Given the description of an element on the screen output the (x, y) to click on. 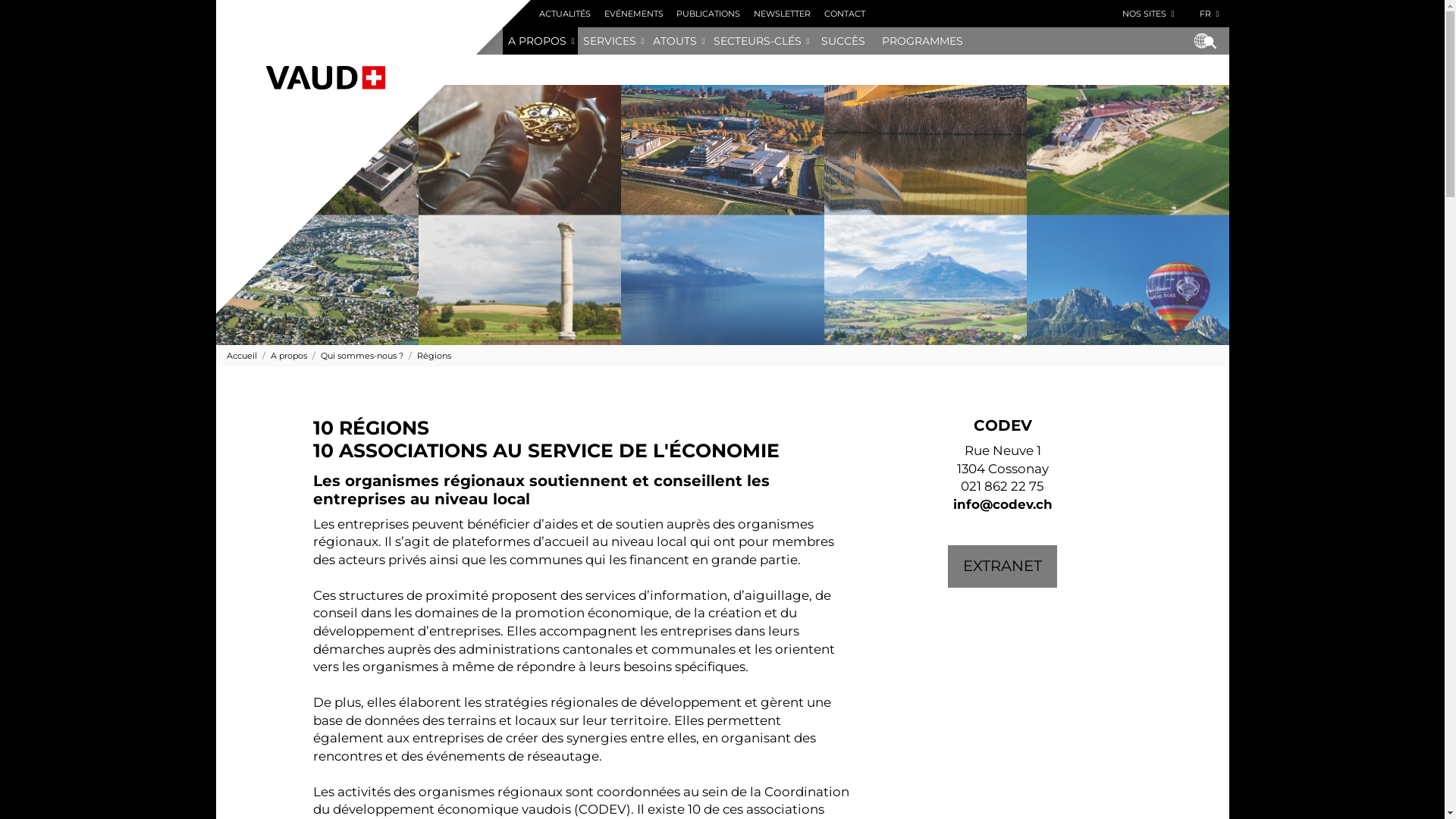
info@codev.ch Element type: text (1002, 503)
A PROPOS Element type: text (533, 40)
A propos Element type: text (281, 355)
SERVICES Element type: text (606, 40)
CONTACT Element type: text (844, 13)
Qui sommes-nous ? Element type: text (354, 355)
PROGRAMMES Element type: text (922, 40)
EXTRANET Element type: text (1002, 565)
Accueil Element type: text (240, 355)
PUBLICATIONS Element type: text (708, 13)
ATOUTS Element type: text (671, 40)
NEWSLETTER Element type: text (781, 13)
